Given the description of an element on the screen output the (x, y) to click on. 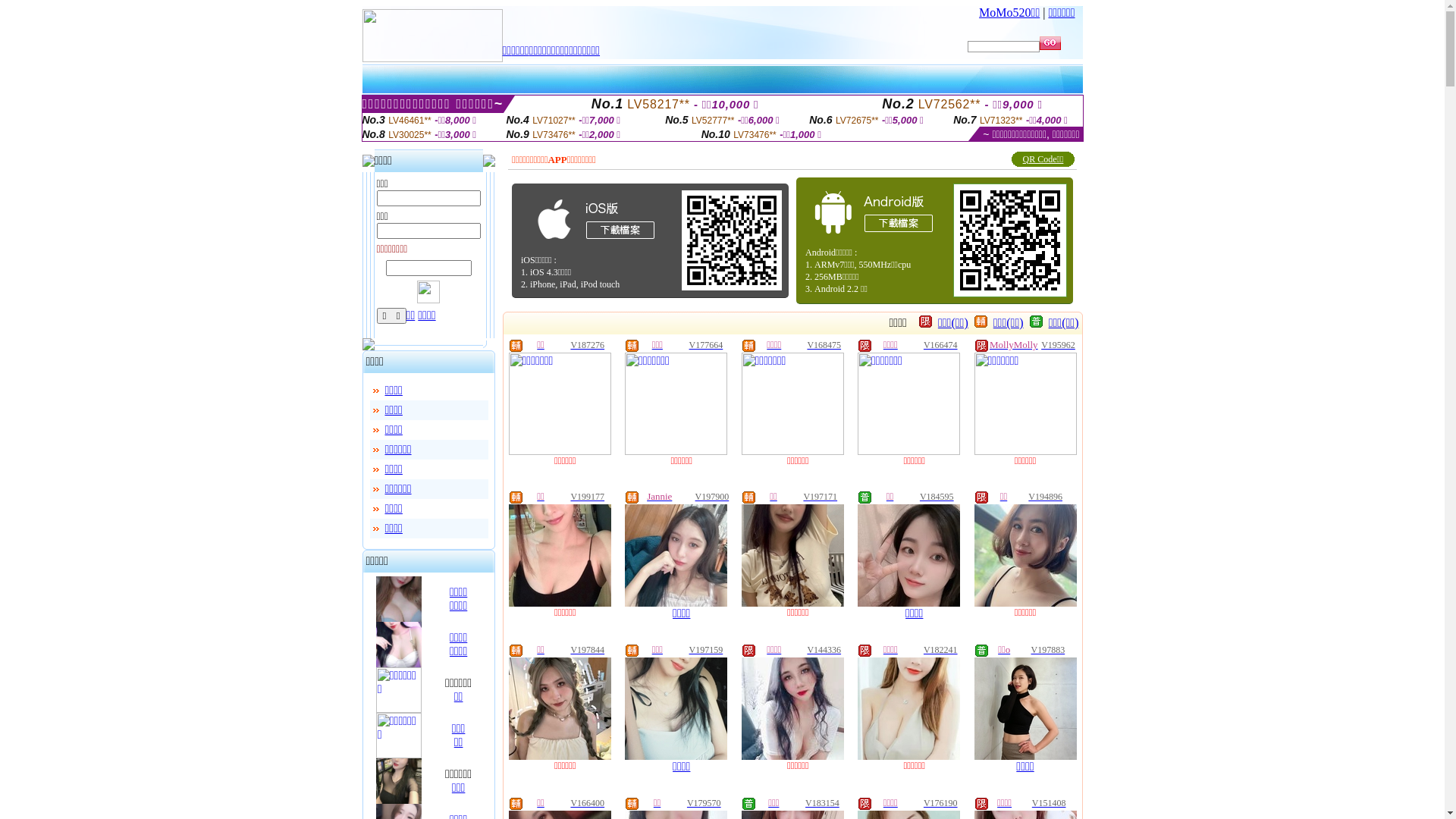
V197844 Element type: text (587, 649)
V199177 Element type: text (587, 496)
V183154 Element type: text (822, 802)
V166400 Element type: text (587, 802)
V184595 Element type: text (936, 496)
V144336 Element type: text (823, 649)
V195962 Element type: text (1058, 344)
MollyMolly Element type: text (1013, 344)
V194896 Element type: text (1045, 496)
V151408 Element type: text (1049, 802)
V197883 Element type: text (1048, 649)
V179570 Element type: text (704, 802)
V187276 Element type: text (587, 344)
V197159 Element type: text (706, 649)
V182241 Element type: text (940, 649)
V197900 Element type: text (712, 496)
V197171 Element type: text (820, 496)
V177664 Element type: text (706, 344)
V168475 Element type: text (823, 344)
Jannie Element type: text (658, 496)
V166474 Element type: text (940, 344)
V176190 Element type: text (940, 802)
